Given the description of an element on the screen output the (x, y) to click on. 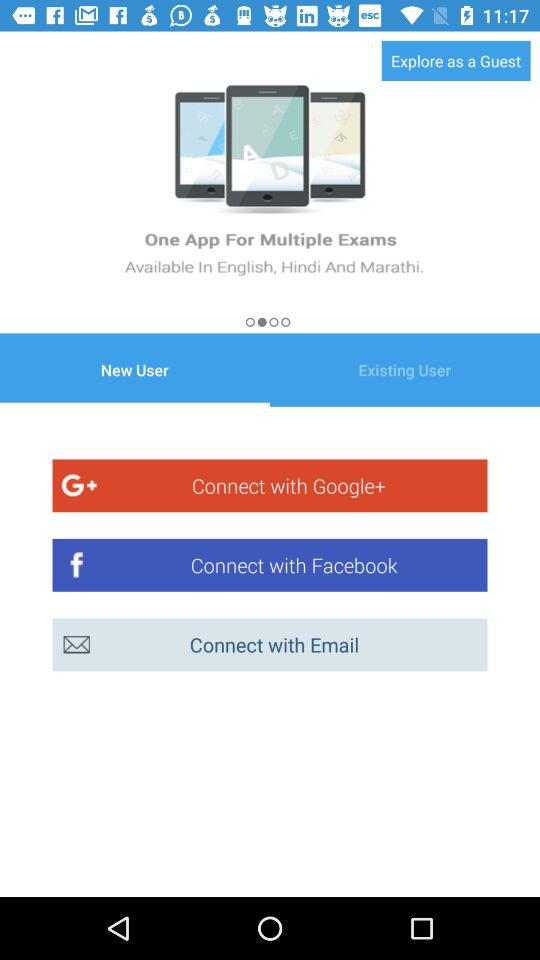
turn off the item at the top right corner (455, 60)
